Given the description of an element on the screen output the (x, y) to click on. 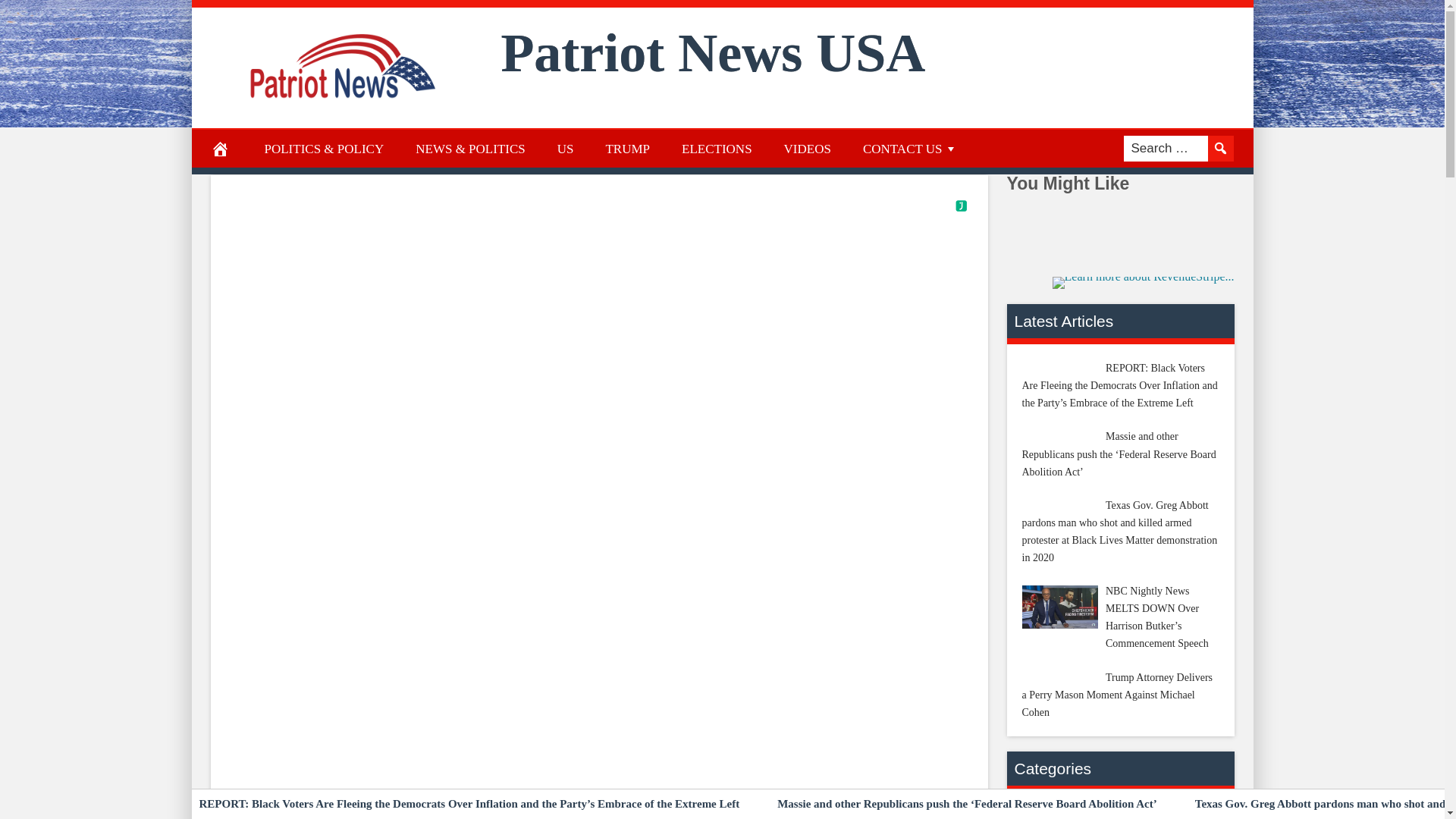
US (565, 148)
TRUMP (627, 148)
CONTACT US (910, 148)
Patriot News USA (712, 52)
VIDEOS (807, 148)
ELECTIONS (716, 148)
